Given the description of an element on the screen output the (x, y) to click on. 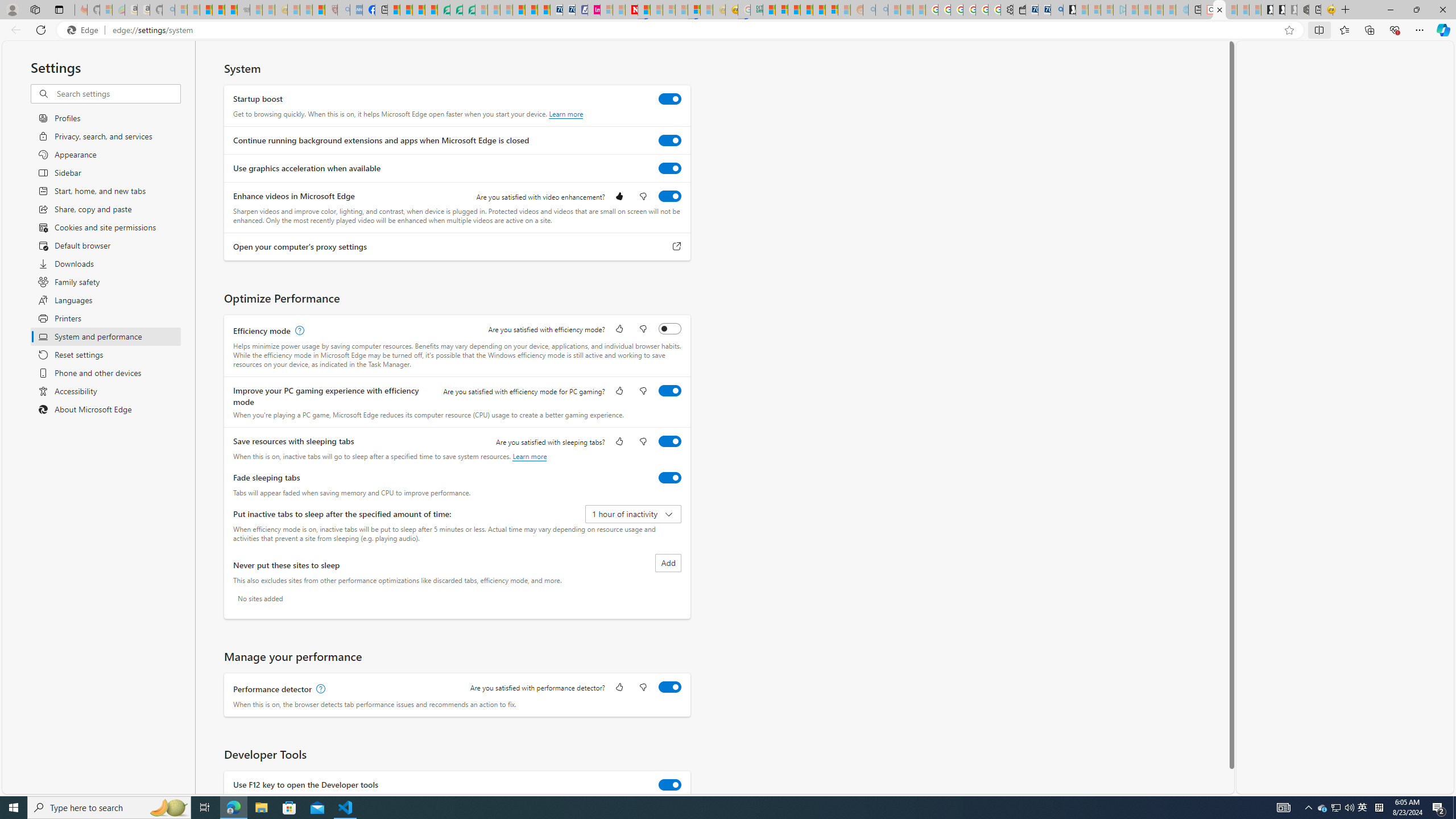
Jobs - lastminute.com Investor Portal (593, 9)
Microsoft Start Gaming (1069, 9)
Back (13, 29)
Microsoft Word - consumer-privacy address update 2.2021 (468, 9)
Kinda Frugal - MSN (818, 9)
Open your computer's proxy settings (676, 246)
Save resources with sleeping tabs (669, 441)
Dislike (642, 687)
App bar (728, 29)
